Given the description of an element on the screen output the (x, y) to click on. 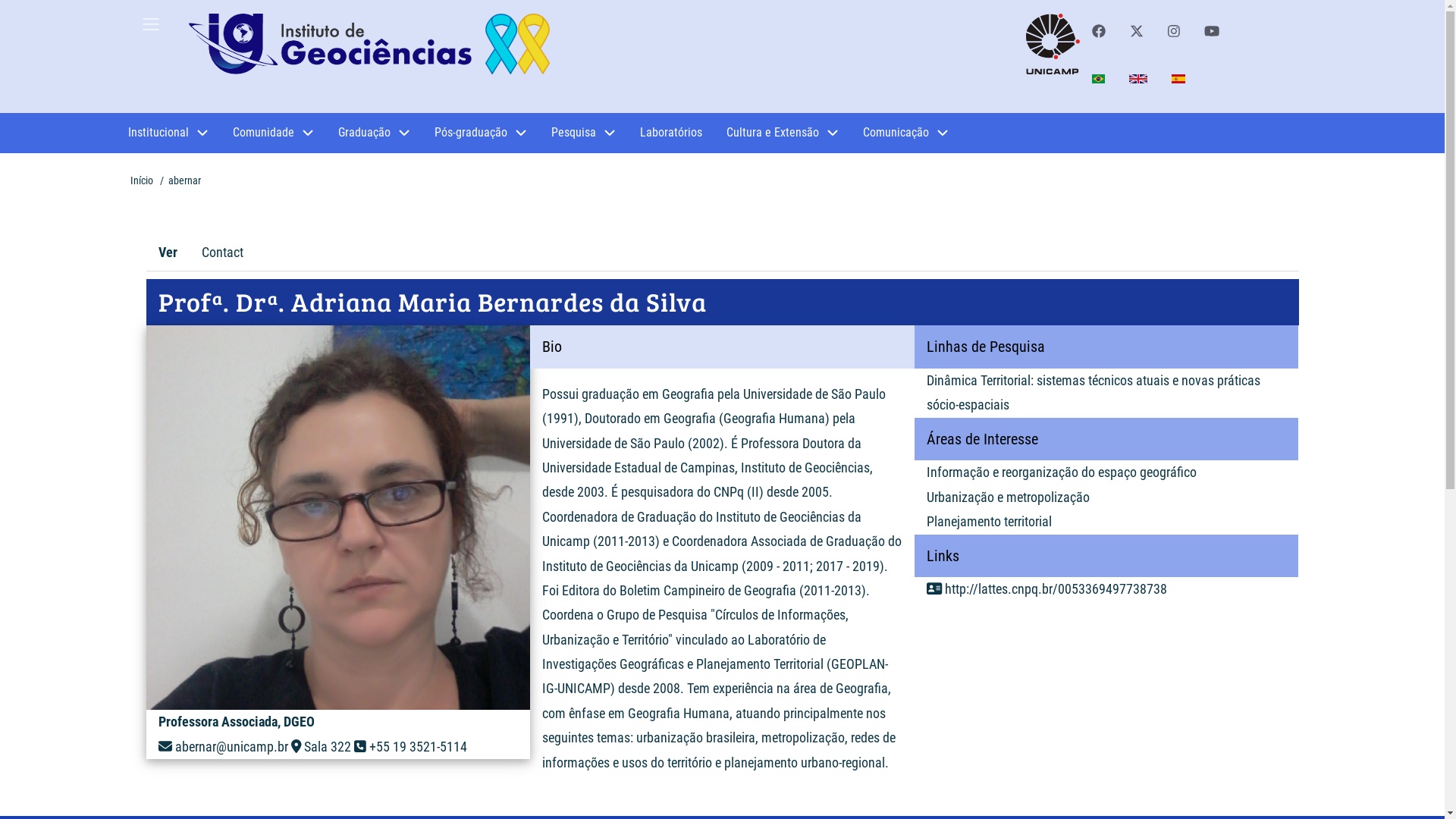
Contact Element type: text (222, 252)
Institucional Element type: text (167, 132)
Instagram Element type: hover (1173, 31)
Portuguese, Brazil Element type: hover (1098, 78)
Youtube Element type: hover (1211, 31)
Twitter Element type: hover (1136, 31)
+55 19 3521-5114 Element type: text (418, 746)
English Element type: hover (1138, 78)
Spanish Element type: hover (1178, 78)
Planejamento territorial Element type: text (988, 521)
abernar@unicamp.br Element type: text (230, 746)
Pesquisa Element type: text (582, 132)
Comunidade Element type: text (272, 132)
Facebook Element type: hover (1098, 31)
Ver
(aba ativa) Element type: text (166, 252)
http://lattes.cnpq.br/0053369497738738 Element type: text (1055, 588)
